Given the description of an element on the screen output the (x, y) to click on. 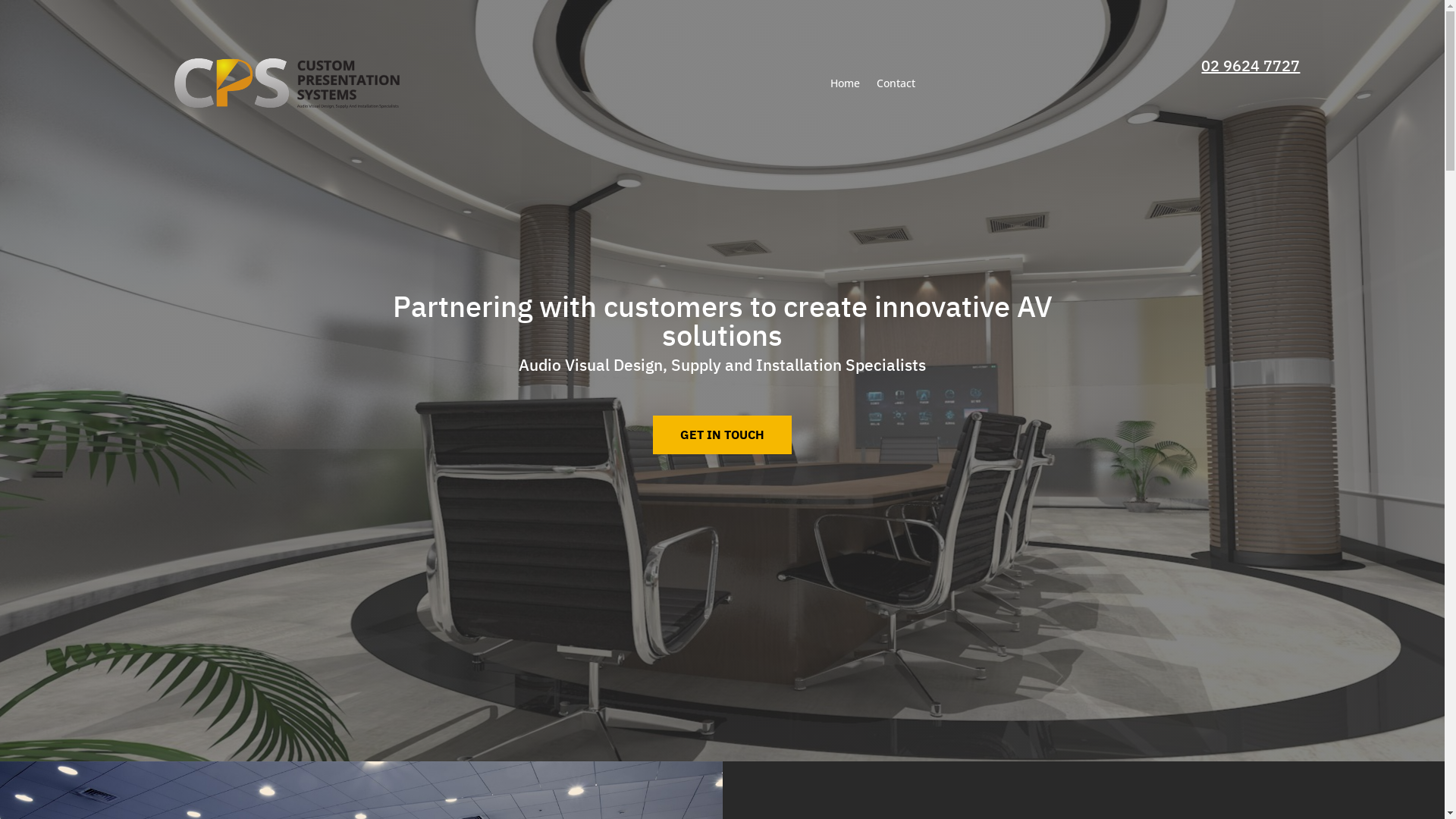
Home Element type: text (844, 82)
GET IN TOUCH Element type: text (721, 434)
02 9624 7727 Element type: text (1250, 65)
Contact Element type: text (895, 82)
